Given the description of an element on the screen output the (x, y) to click on. 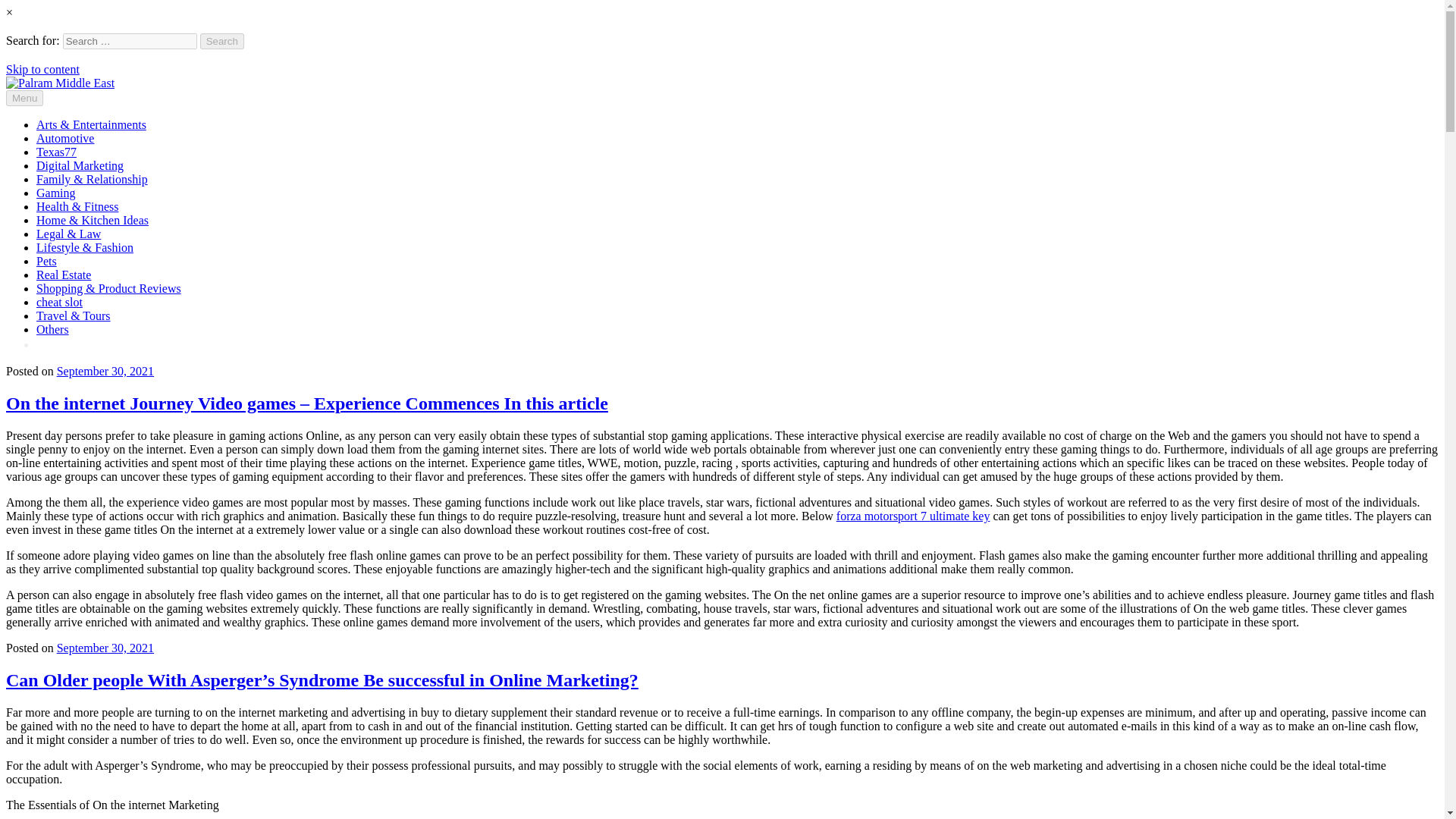
cheat slot (59, 301)
Pets (46, 260)
forza motorsport 7 ultimate key (912, 515)
Others (52, 328)
September 30, 2021 (105, 370)
Digital Marketing (79, 164)
September 30, 2021 (105, 647)
Real Estate (63, 274)
Texas77 (56, 151)
Gaming (55, 192)
Skip to content (42, 69)
Automotive (65, 137)
Search (222, 41)
Menu (24, 98)
